Given the description of an element on the screen output the (x, y) to click on. 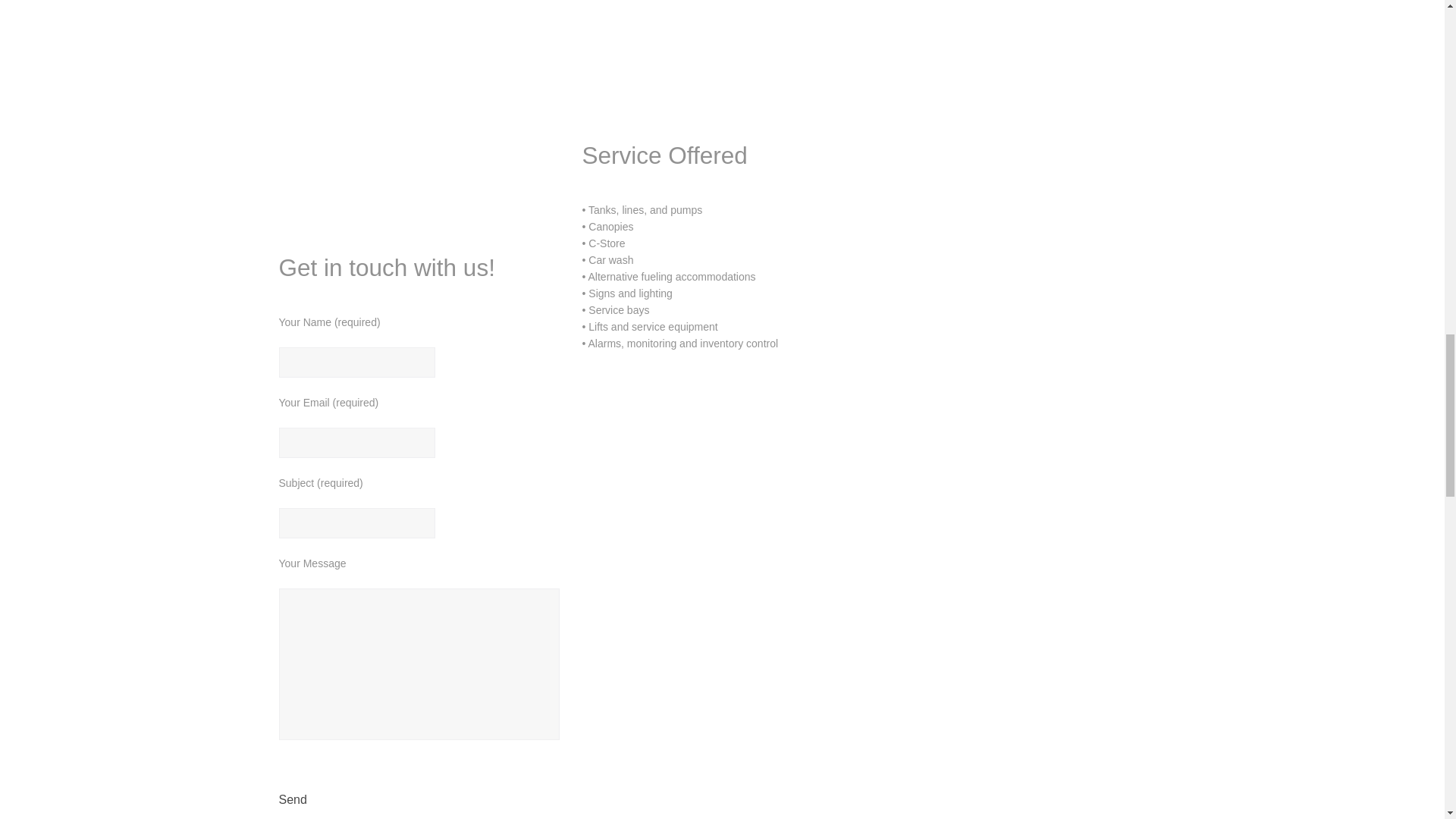
Please wait until Google reCaptcha is loaded. (309, 799)
Follow us on Instagram (377, 135)
Follow us on Twitter (377, 10)
Send (309, 799)
